Given the description of an element on the screen output the (x, y) to click on. 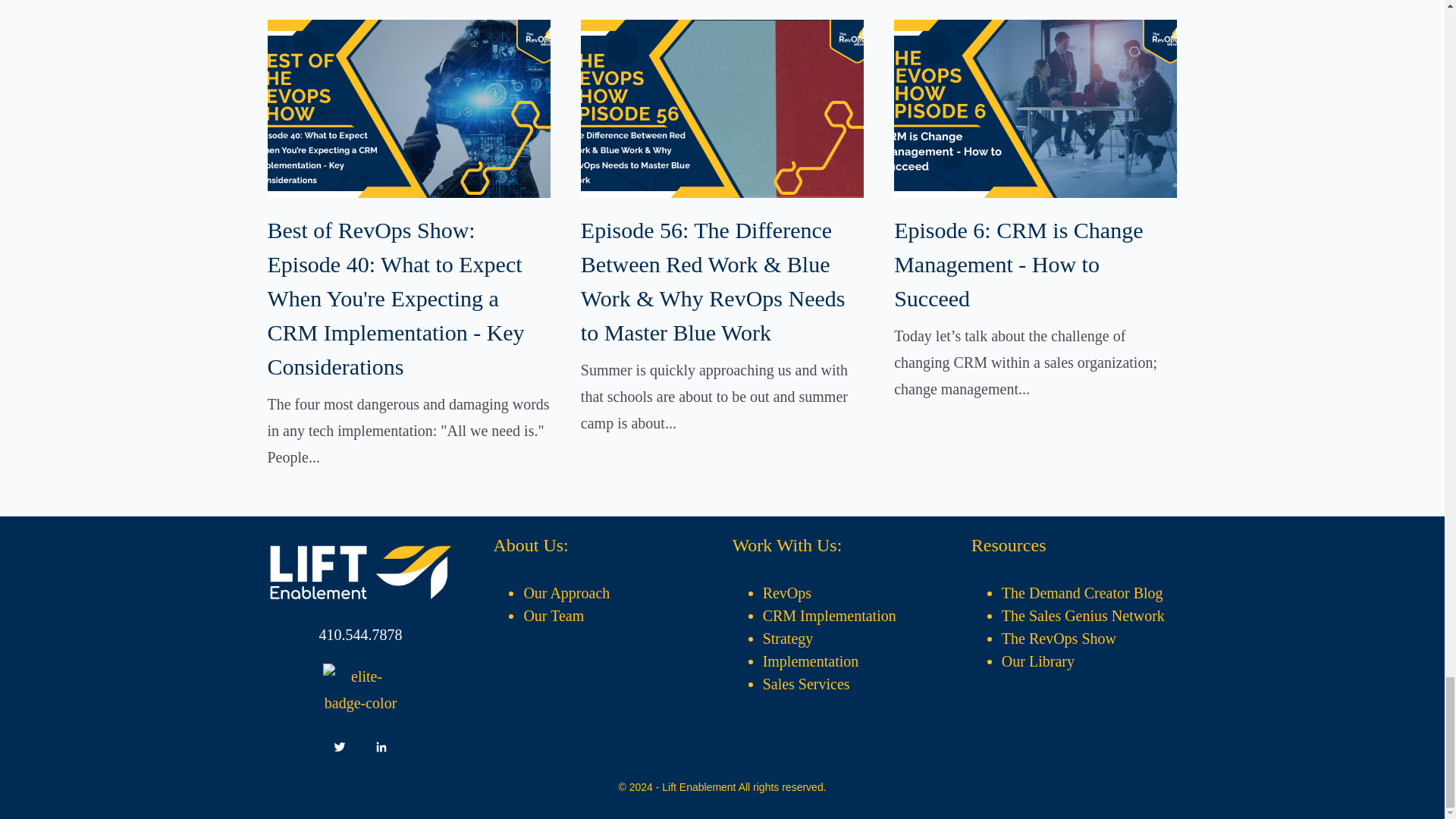
LiftEnablement - Logo - Reverse (359, 571)
